Given the description of an element on the screen output the (x, y) to click on. 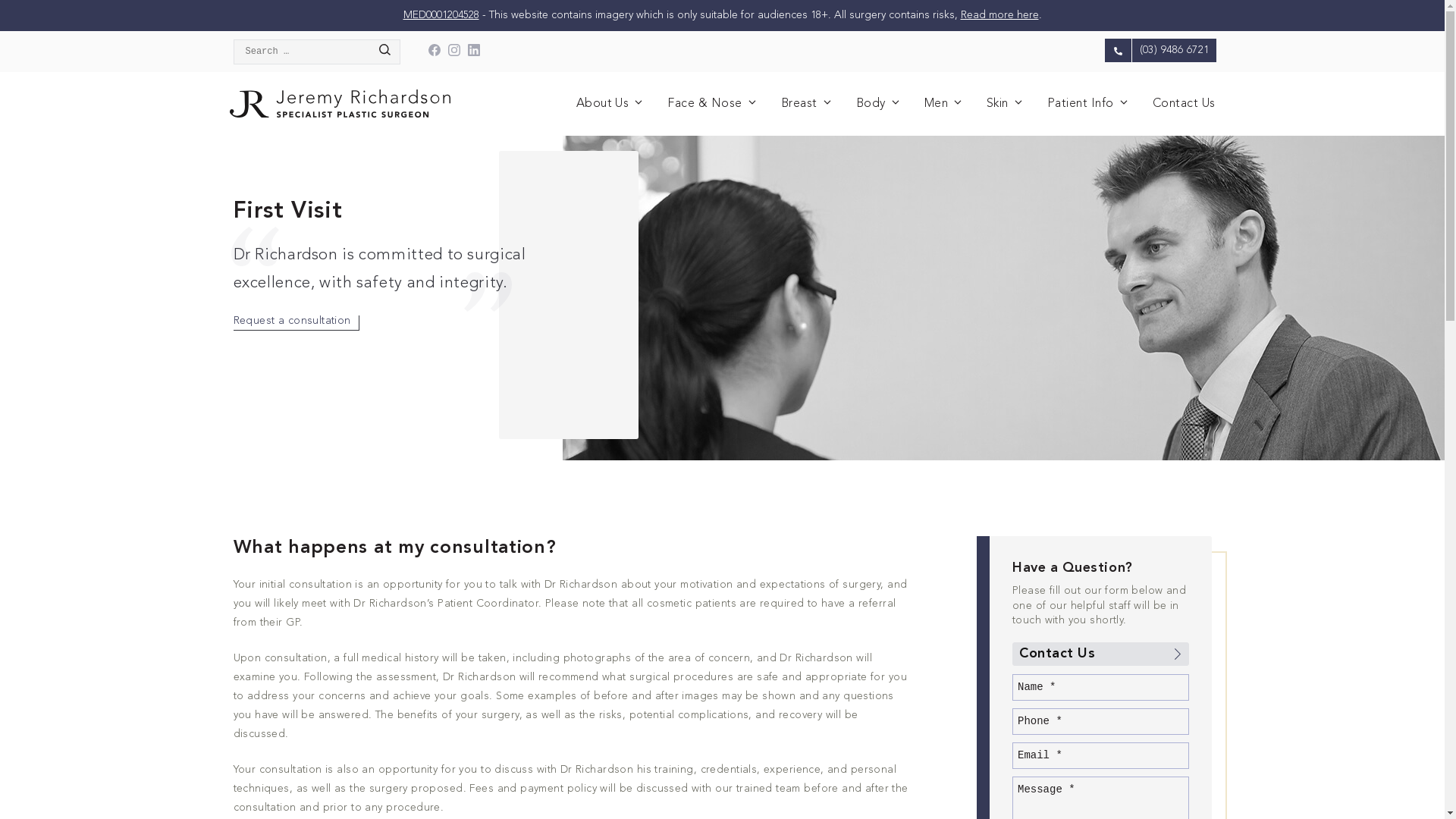
Breast Element type: text (807, 103)
Men Element type: text (943, 103)
Skin Element type: text (1005, 103)
Search for: Element type: hover (316, 51)
Body Element type: text (878, 103)
Contact Us Element type: text (1183, 103)
Read more here Element type: text (999, 14)
Face & Nose Element type: text (712, 103)
Contact Us Element type: text (1100, 654)
Request a consultation Element type: text (296, 322)
Patient Info Element type: text (1088, 103)
MED0001204528 Element type: text (441, 14)
About Us Element type: text (610, 103)
(03) 9486 6721 Element type: text (1159, 50)
